Given the description of an element on the screen output the (x, y) to click on. 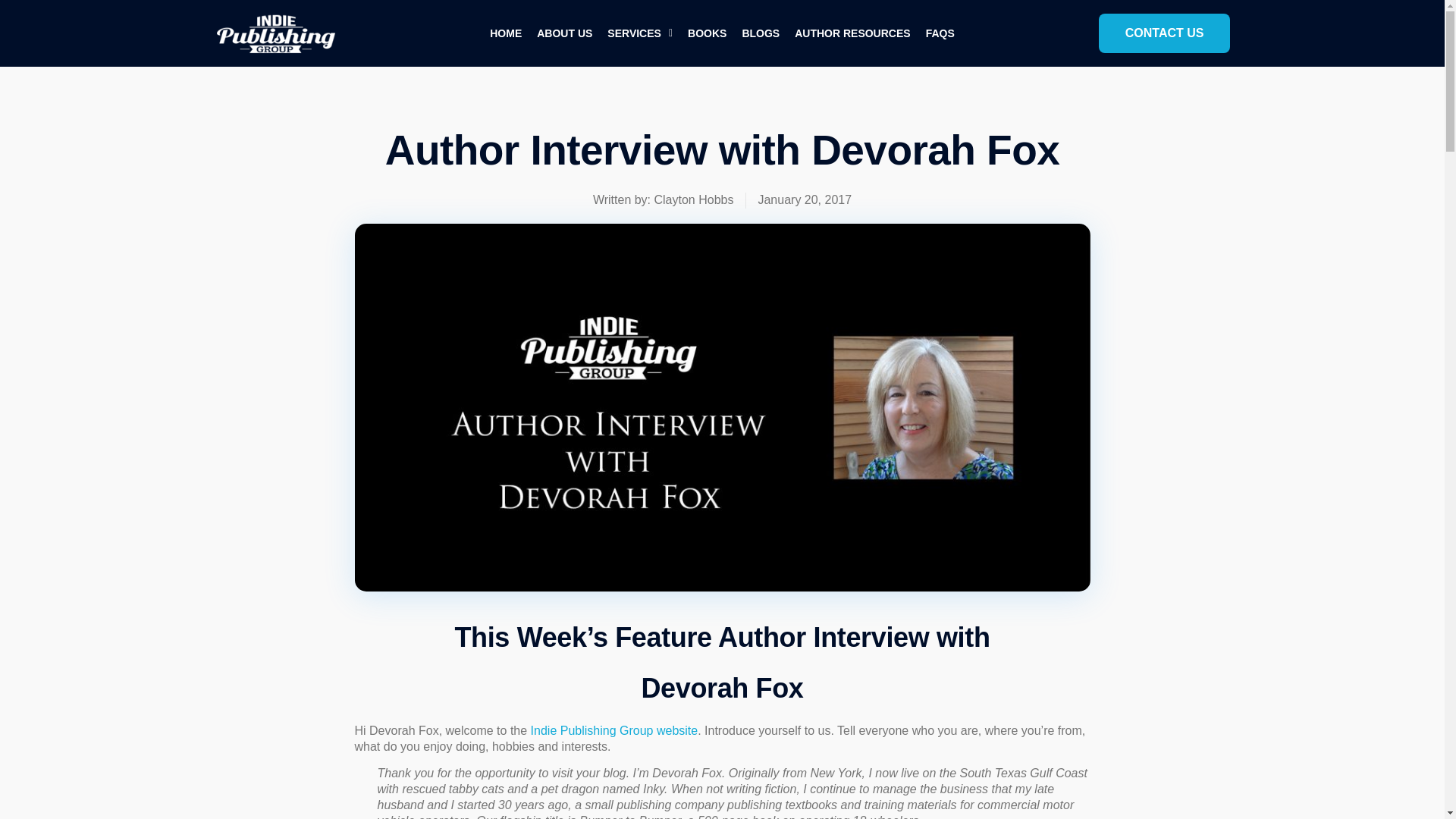
SERVICES (639, 33)
AUTHOR RESOURCES (852, 33)
